Given the description of an element on the screen output the (x, y) to click on. 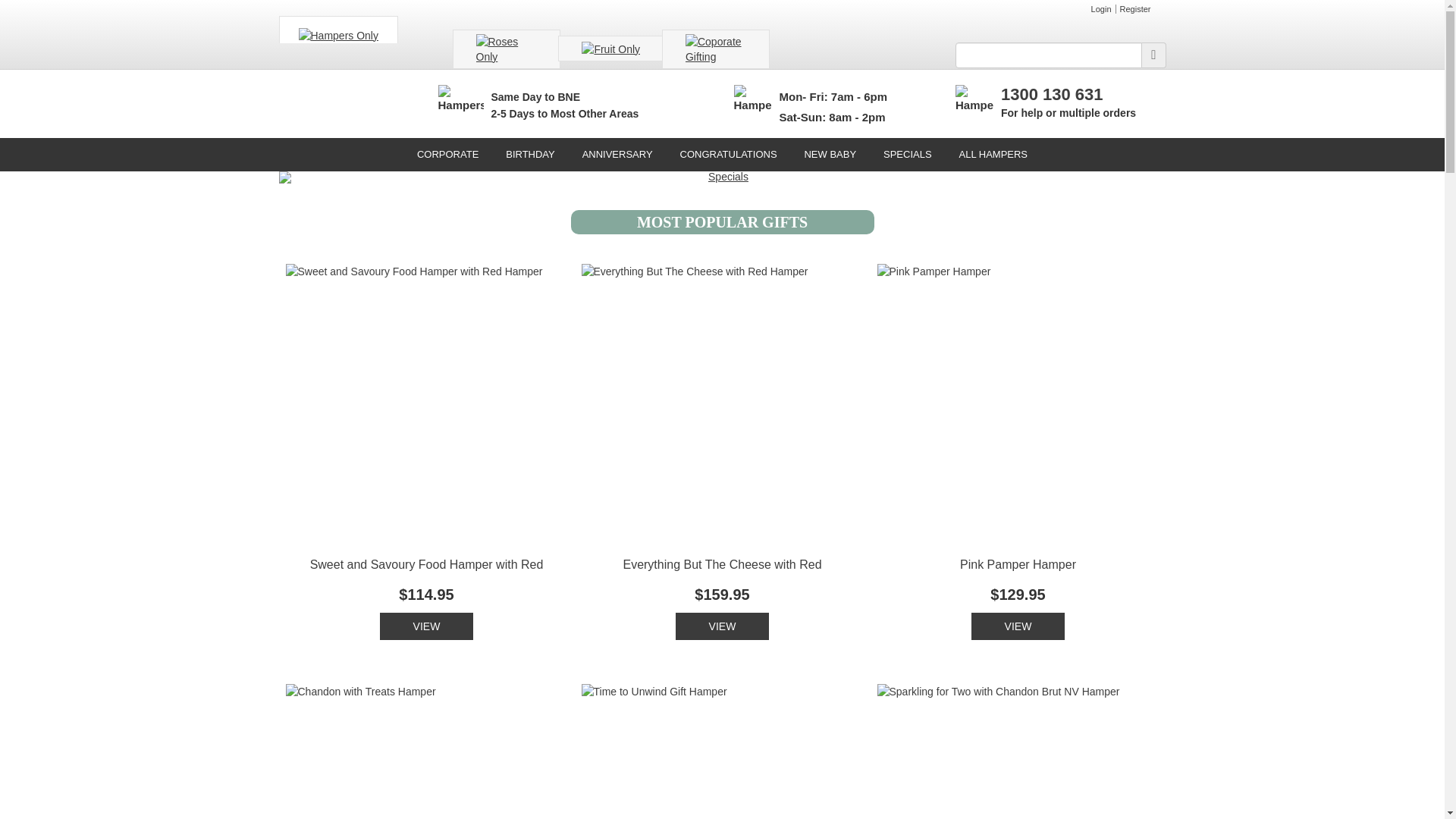
Everything But The Cheese with Red by Hampers Only Element type: hover (721, 404)
ALL HAMPERS Element type: text (992, 154)
Pink Pamper Hamper
$129.95
VIEW Element type: text (1017, 451)
Everything But The Cheese with Red
$159.95
VIEW Element type: text (721, 451)
CORPORATE Element type: text (447, 154)
CONGRATULATIONS Element type: text (727, 154)
NEW BABY Element type: text (829, 154)
Specials Element type: hover (722, 177)
Pink Pamper Hamper by Hampers Only Element type: hover (1017, 404)
1300 130 631 Element type: text (1052, 93)
ANNIVERSARY Element type: text (617, 154)
Sweet and Savoury Food Hamper with Red
$114.95
VIEW Element type: text (426, 451)
SPECIALS Element type: text (907, 154)
Register Element type: text (1135, 8)
Login Element type: text (1101, 8)
BIRTHDAY Element type: text (530, 154)
Sweet and Savoury Food Hamper with Red by Hampers Only Element type: hover (426, 404)
